Given the description of an element on the screen output the (x, y) to click on. 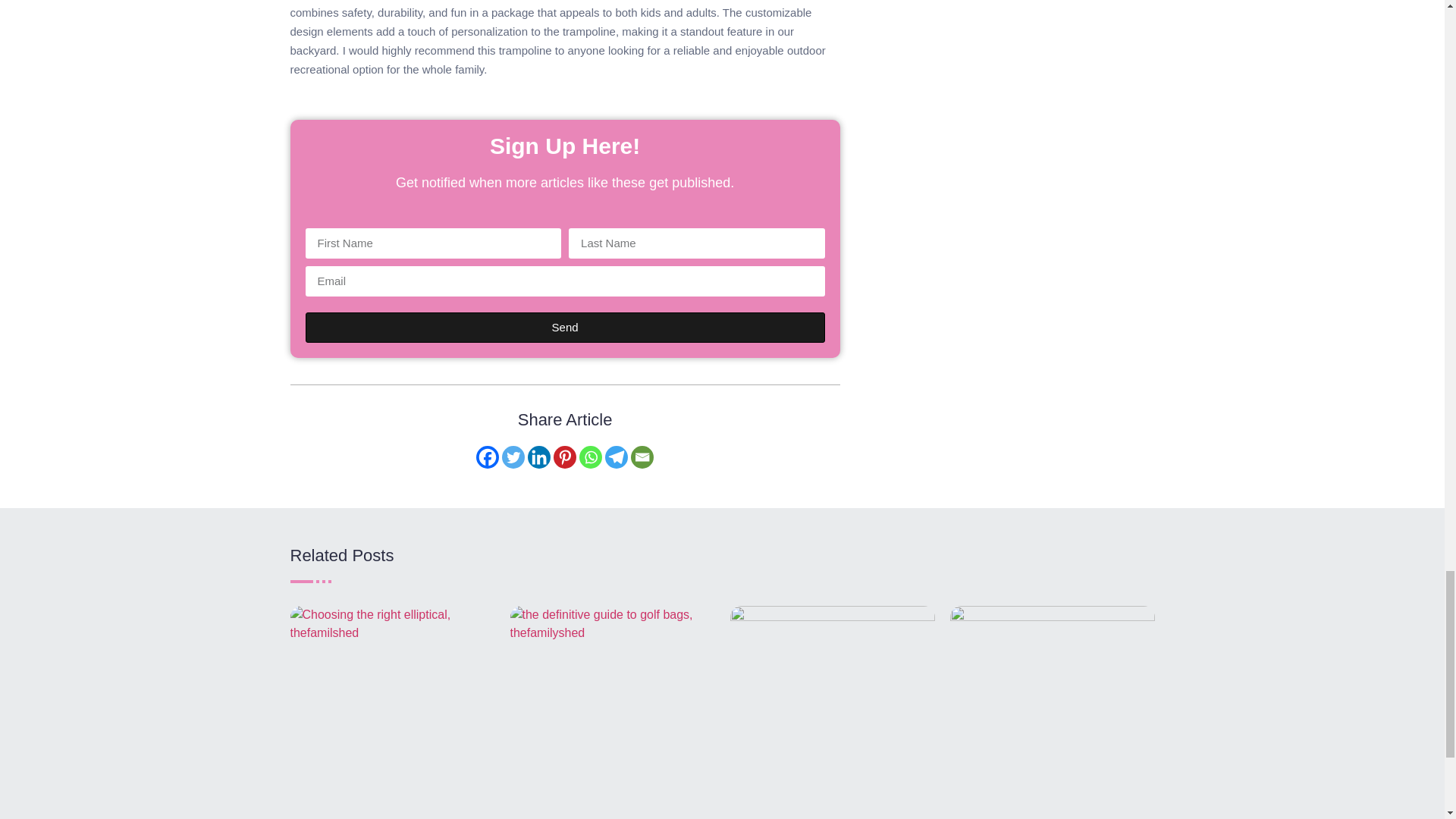
Twitter (513, 456)
Send (564, 327)
Email (641, 456)
Whatsapp (590, 456)
Pinterest (564, 456)
Linkedin (538, 456)
Telegram (616, 456)
Facebook (487, 456)
